Given the description of an element on the screen output the (x, y) to click on. 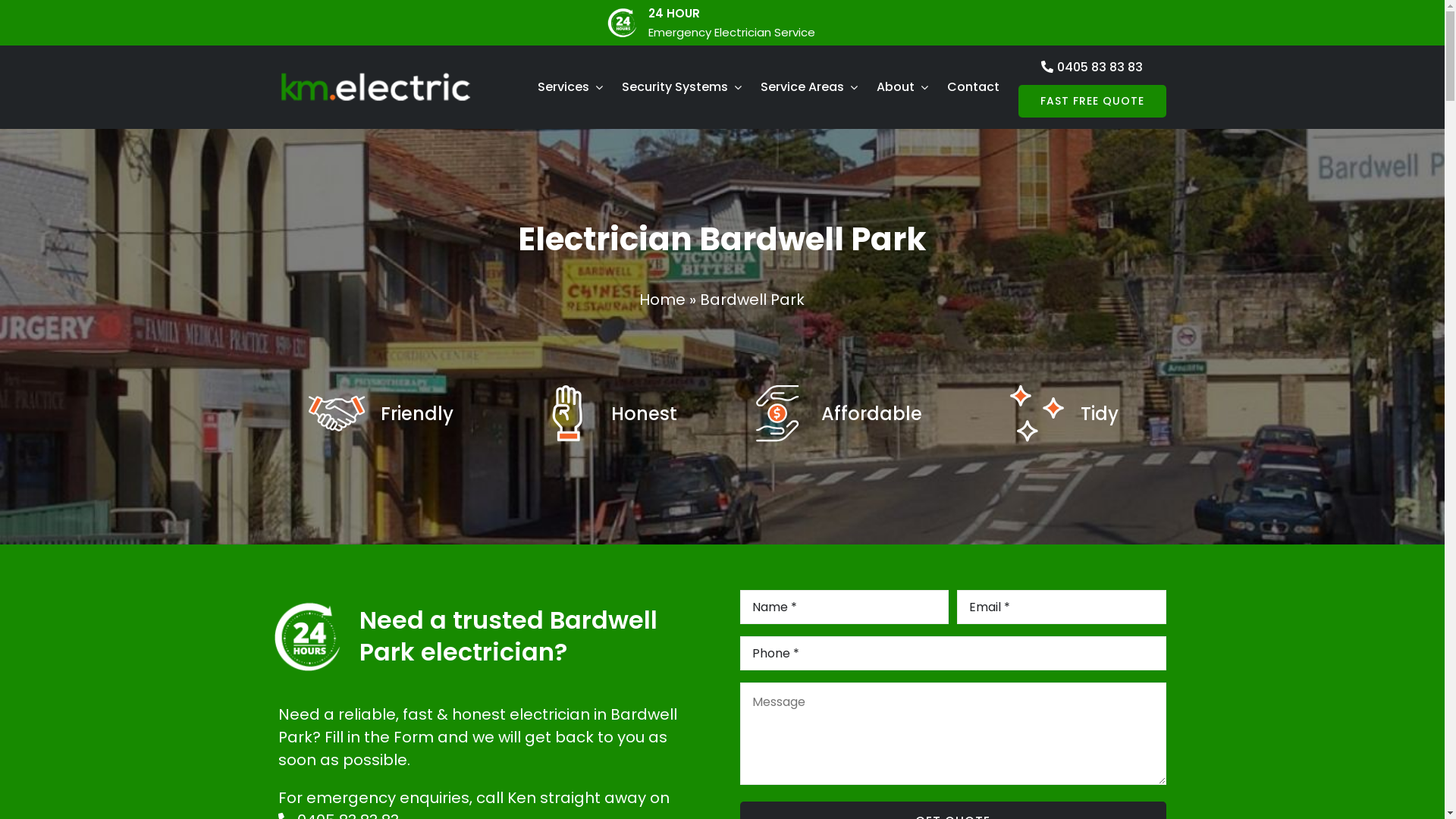
Security Systems Element type: text (681, 87)
Need a trusted Bardwell Park electrician? Element type: text (508, 635)
Service Areas Element type: text (808, 87)
Services Element type: text (569, 87)
About Element type: text (902, 87)
Home Element type: text (662, 299)
0405 83 83 83 Element type: text (1092, 66)
Contact Element type: text (973, 87)
FAST FREE QUOTE Element type: text (1092, 100)
24hr100 Element type: hover (306, 635)
